Given the description of an element on the screen output the (x, y) to click on. 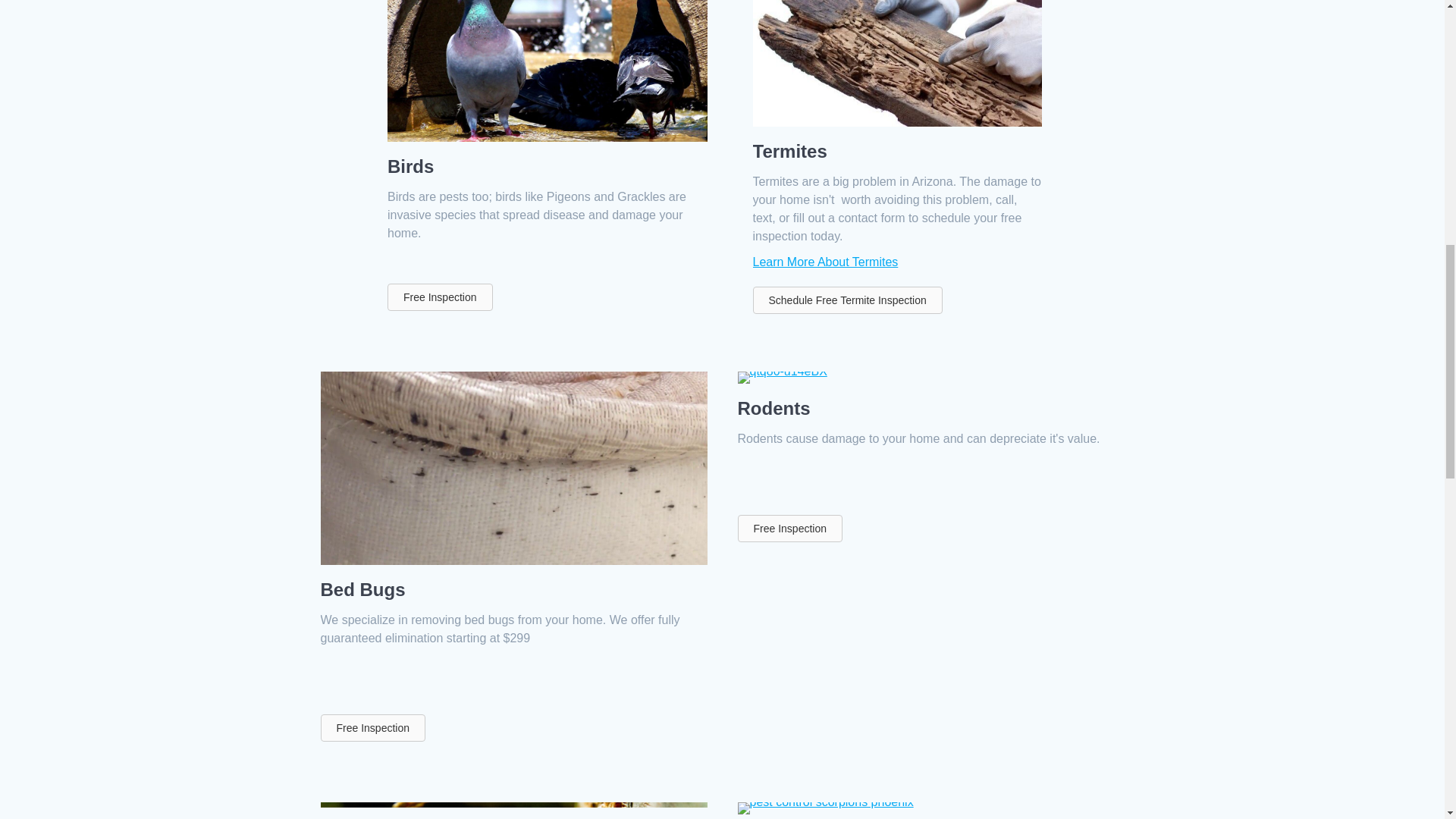
qtq80-iKqyUz (547, 70)
Scorpions glowing trash can (824, 808)
Rodents (772, 408)
Learn More About Termites (825, 261)
Schedule Free Termite Inspection (847, 299)
bed bugs in mattress lining (513, 468)
Bed Bugs (362, 589)
qtq80-u14eBX (781, 377)
Free Inspection (789, 528)
